Given the description of an element on the screen output the (x, y) to click on. 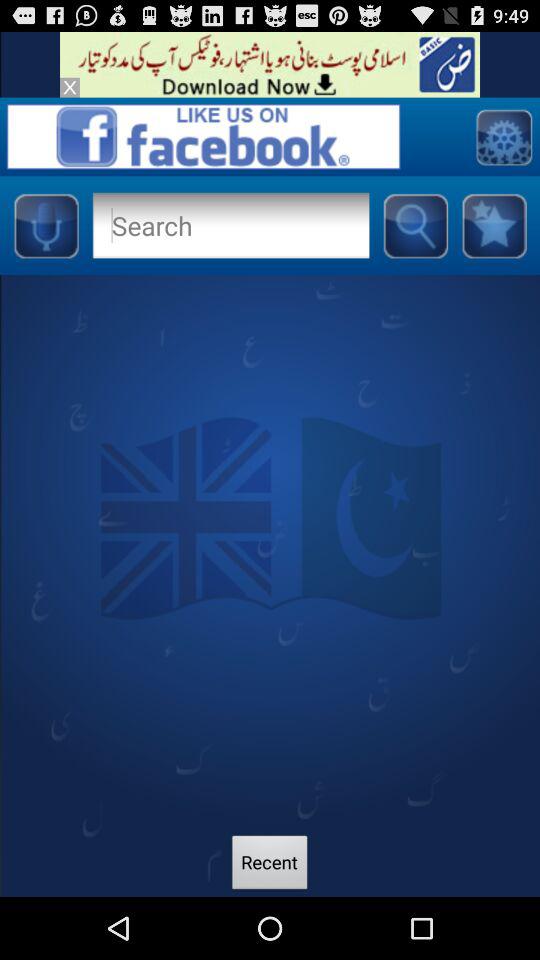
exit out of advertisement (69, 87)
